Given the description of an element on the screen output the (x, y) to click on. 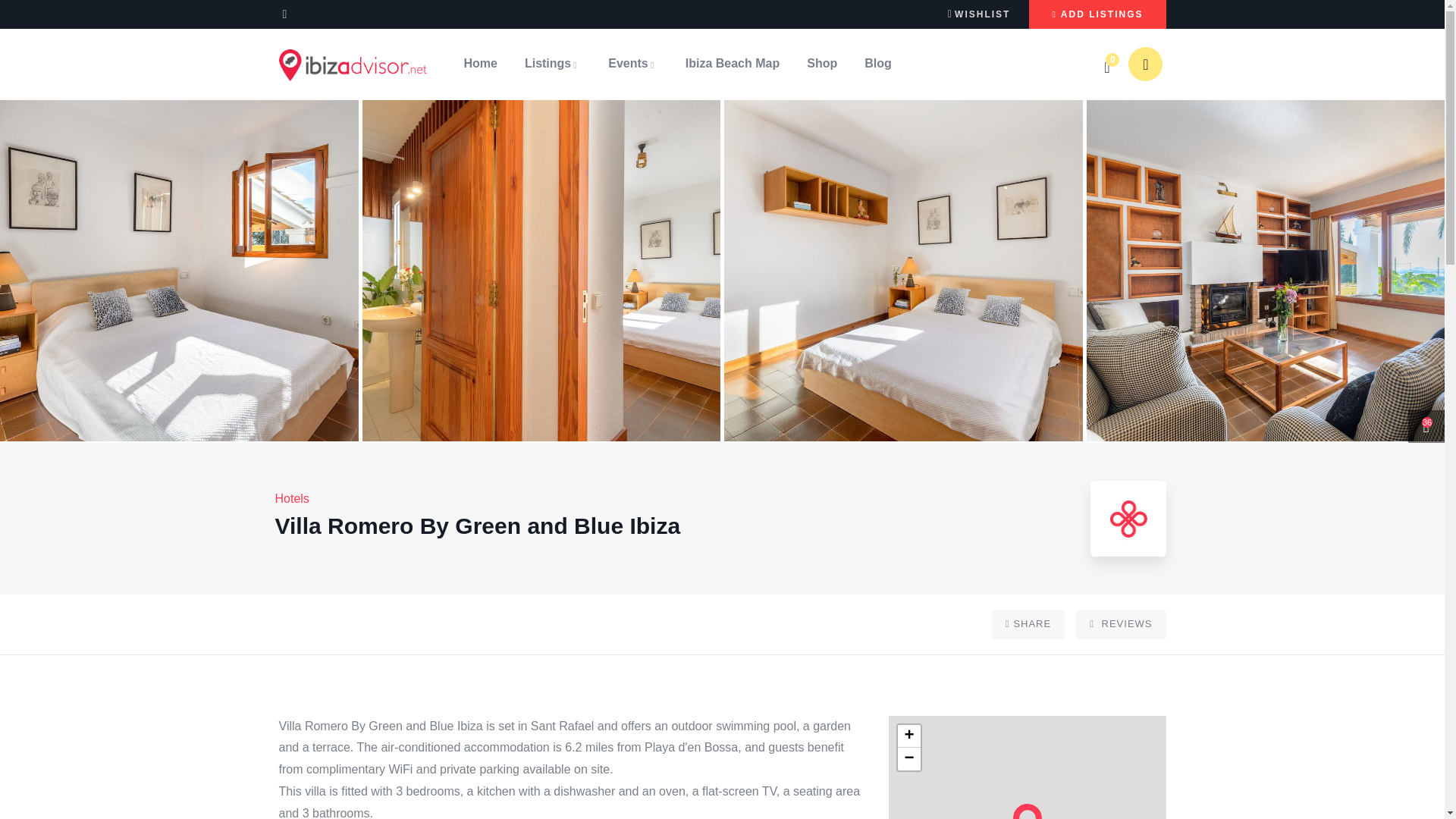
View your shopping cart (1108, 67)
Zoom in (909, 735)
Zoom out (909, 758)
Home (479, 63)
ADD LISTINGS (1097, 14)
Home (353, 65)
WISHLIST (978, 13)
Listings (552, 63)
